Given the description of an element on the screen output the (x, y) to click on. 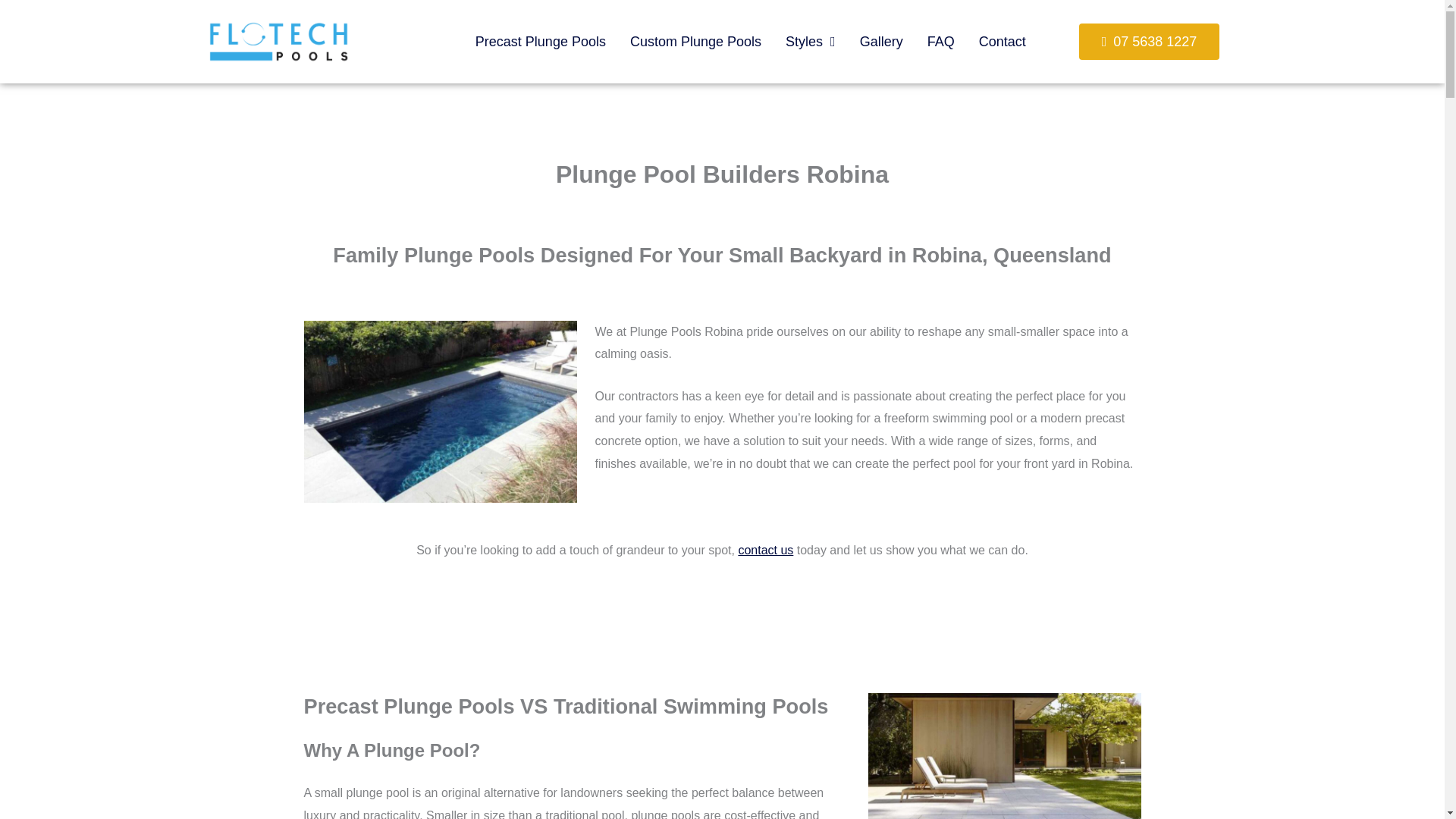
Gallery (881, 41)
Styles (810, 41)
Contact (1002, 41)
contact us (765, 549)
FAQ (940, 41)
Precast Plunge Pools (540, 41)
Custom Plunge Pools (695, 41)
07 5638 1227 (1149, 41)
